Given the description of an element on the screen output the (x, y) to click on. 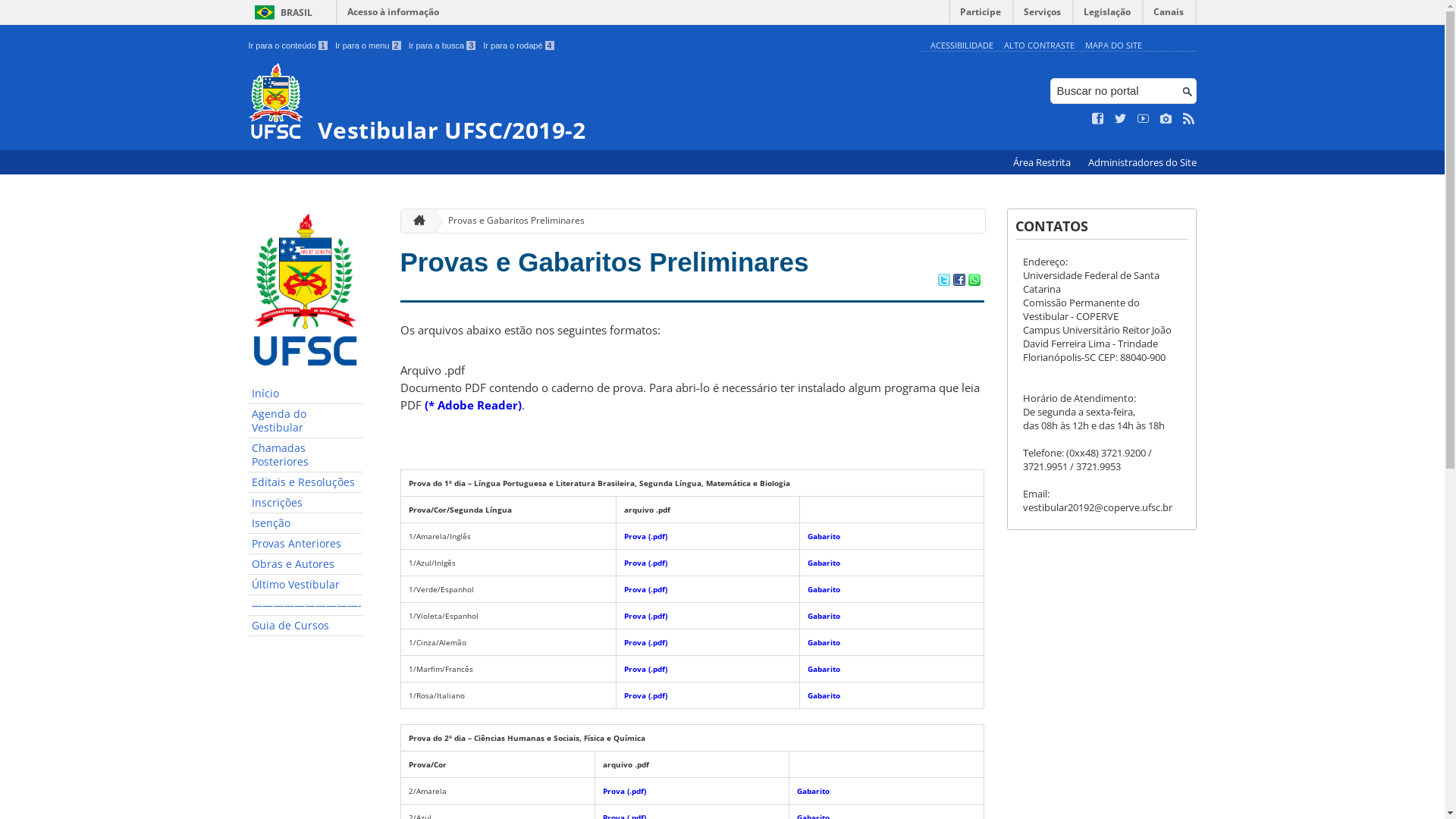
Chamadas Posteriores Element type: text (305, 455)
Prova (.pdf) Element type: text (645, 588)
Curta no Facebook Element type: hover (1098, 118)
Guia de Cursos Element type: text (305, 625)
Canais Element type: text (1169, 15)
Prova (.pdf) Element type: text (645, 695)
Gabarito Element type: text (823, 615)
Compartilhar no Facebook Element type: hover (958, 280)
Gabarito Element type: text (823, 668)
BRASIL Element type: text (280, 12)
Gabarito Element type: text (823, 562)
Prova (.pdf) Element type: text (645, 668)
Prova (.pdf) Element type: text (645, 615)
Prova (.pdf) Element type: text (645, 642)
(* Adobe Reader) Element type: text (472, 404)
Provas Anteriores Element type: text (305, 543)
ALTO CONTRASTE Element type: text (1039, 44)
ACESSIBILIDADE Element type: text (960, 44)
Ir para a busca 3 Element type: text (442, 45)
Gabarito Element type: text (823, 588)
MAPA DO SITE Element type: text (1112, 44)
Gabarito Element type: text (823, 535)
Veja no Instagram Element type: hover (1166, 118)
Prova (.pdf) Element type: text (645, 562)
Ir para o menu 2 Element type: text (368, 45)
Provas e Gabaritos Preliminares Element type: text (604, 261)
Gabarito Element type: text (813, 790)
Agenda do Vestibular Element type: text (305, 421)
Prova (.pdf) Element type: text (645, 535)
Gabarito Element type: text (823, 695)
Obras e Autores Element type: text (305, 564)
Vestibular UFSC/2019-2 Element type: text (580, 102)
Participe Element type: text (980, 15)
Siga no Twitter Element type: hover (1120, 118)
Provas e Gabaritos Preliminares Element type: text (509, 220)
Gabarito Element type: text (823, 642)
Compartilhar no WhatsApp Element type: hover (973, 280)
Administradores do Site Element type: text (1141, 162)
Prova (.pdf) Element type: text (624, 790)
Compartilhar no Twitter Element type: hover (943, 280)
